Given the description of an element on the screen output the (x, y) to click on. 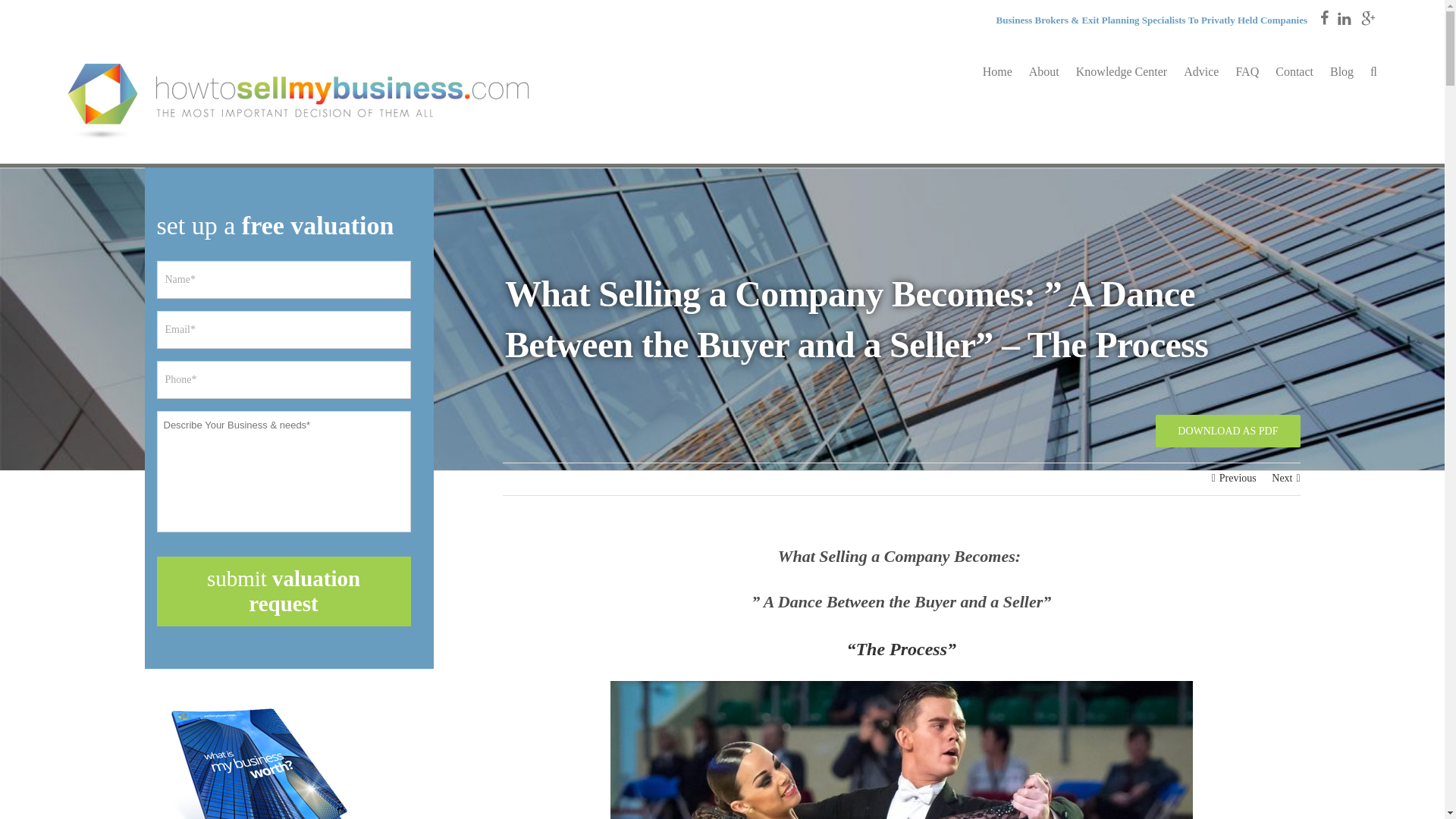
DOWNLOAD AS PDF (1228, 428)
Knowledge Center (1121, 71)
Download PDF (1228, 428)
About (1044, 71)
DOWNLOAD AS PDF (1228, 430)
Previous (1238, 478)
Advice (1200, 71)
Blog (1342, 71)
Next (1281, 478)
Contact (1294, 71)
FAQ (1246, 71)
Home (996, 71)
